Given the description of an element on the screen output the (x, y) to click on. 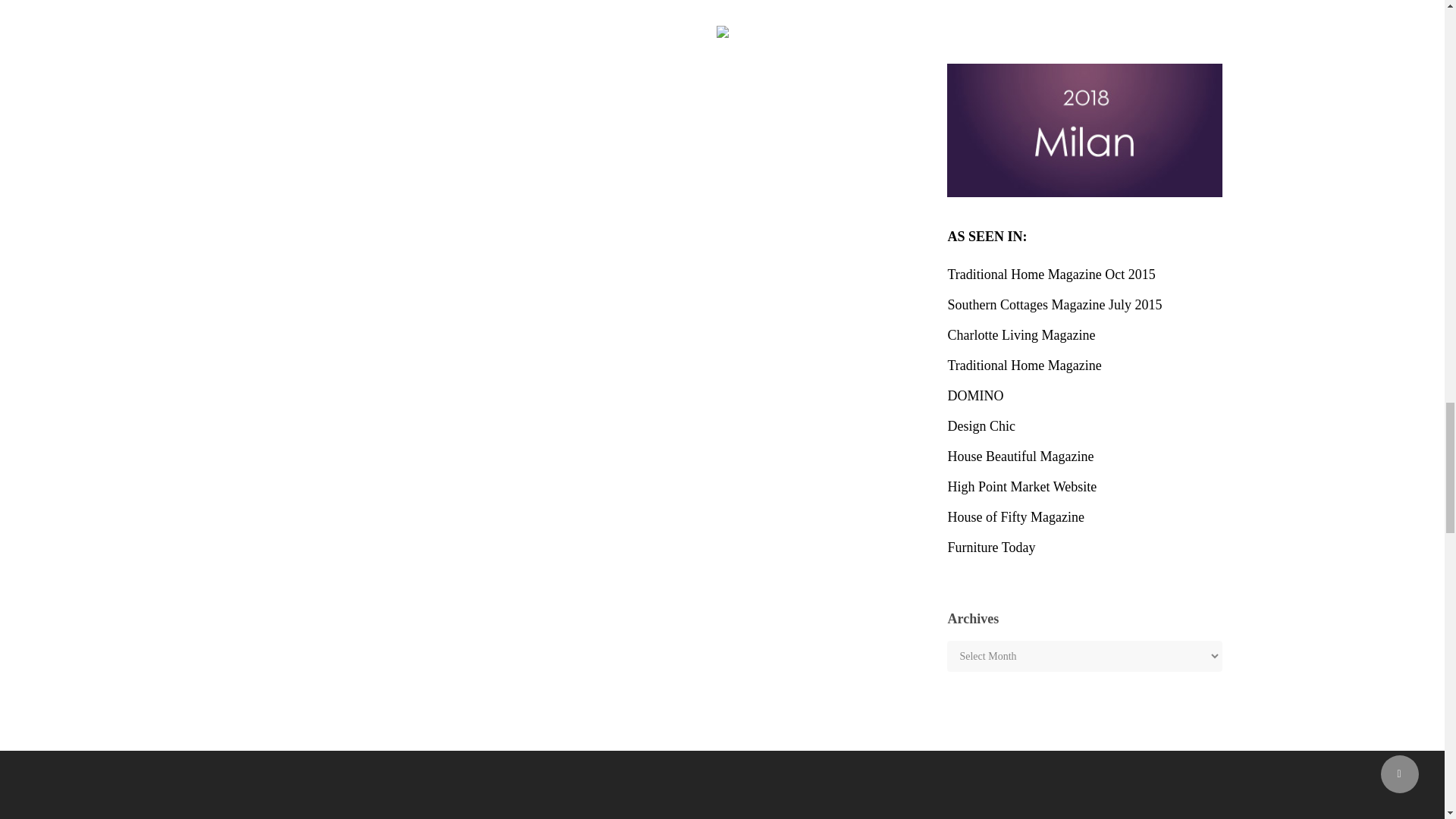
Southern Cottages Magazine July 2015 (1085, 304)
House Beautiful Magazine (1085, 456)
High Point Market Website (1085, 486)
DOMINO (1085, 395)
Furniture Today (1085, 547)
Design Chic (1085, 426)
Traditional Home Magazine Oct 2015 (1085, 274)
House of Fifty Magazine (1085, 517)
Charlotte Living Magazine (1085, 334)
Traditional Home Magazine (1085, 364)
